Given the description of an element on the screen output the (x, y) to click on. 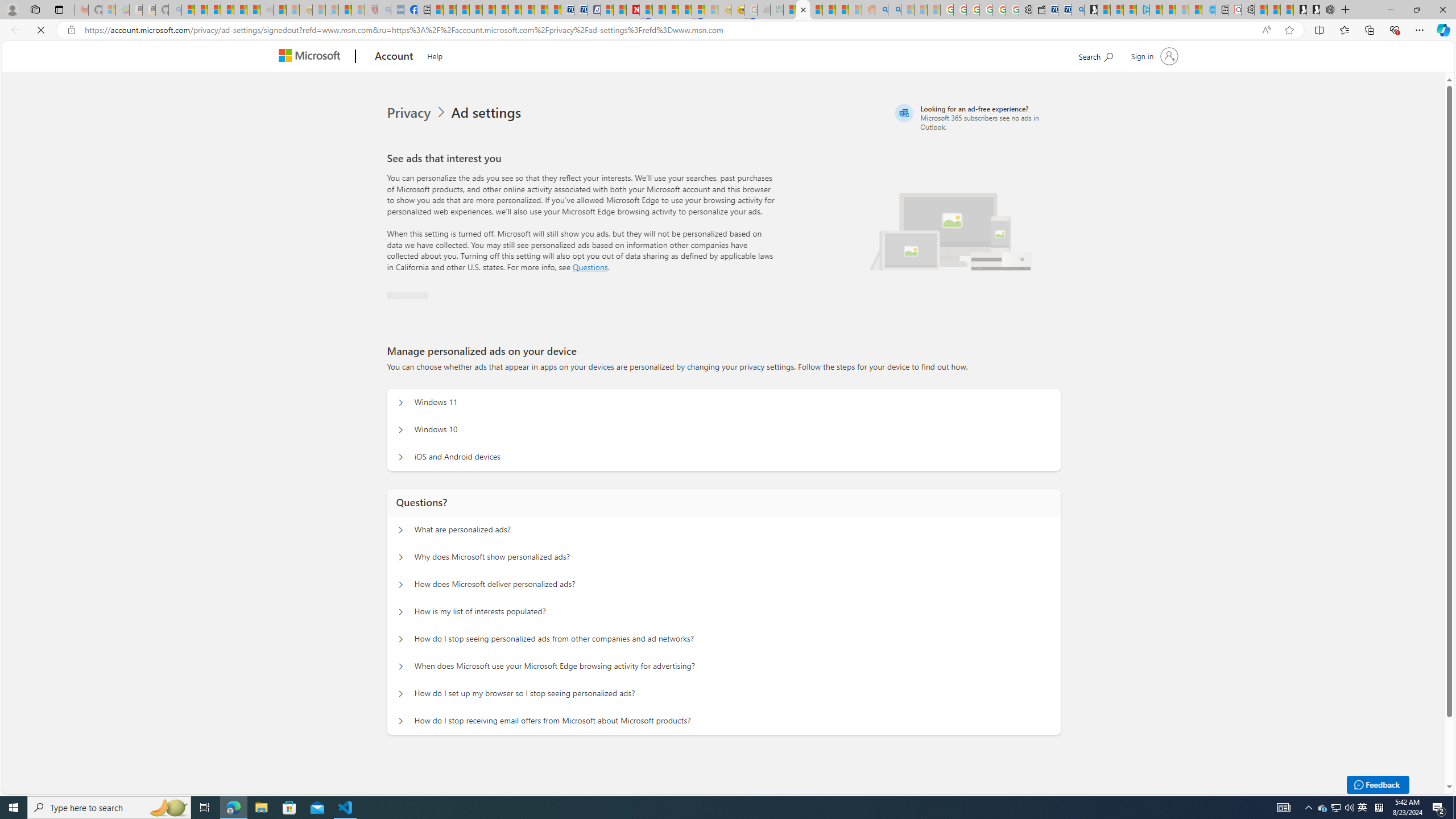
Manage personalized ads on your device Windows 10 (399, 429)
Manage personalized ads on your device Windows 11 (399, 402)
